Given the description of an element on the screen output the (x, y) to click on. 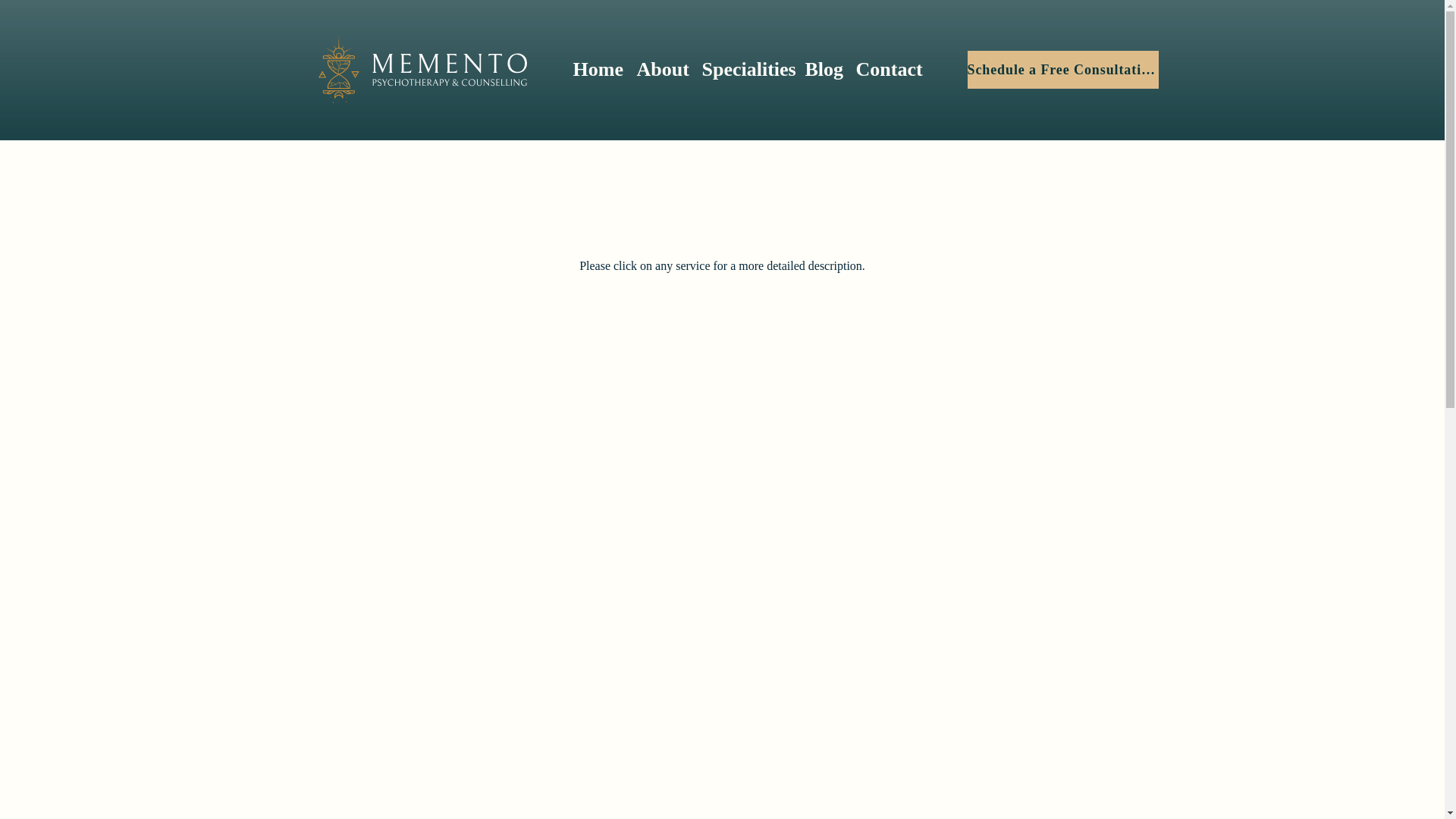
Blog (822, 69)
Specialities (745, 69)
About (661, 69)
Schedule a Free Consultation (1063, 69)
Home (597, 69)
Contact (887, 69)
